Given the description of an element on the screen output the (x, y) to click on. 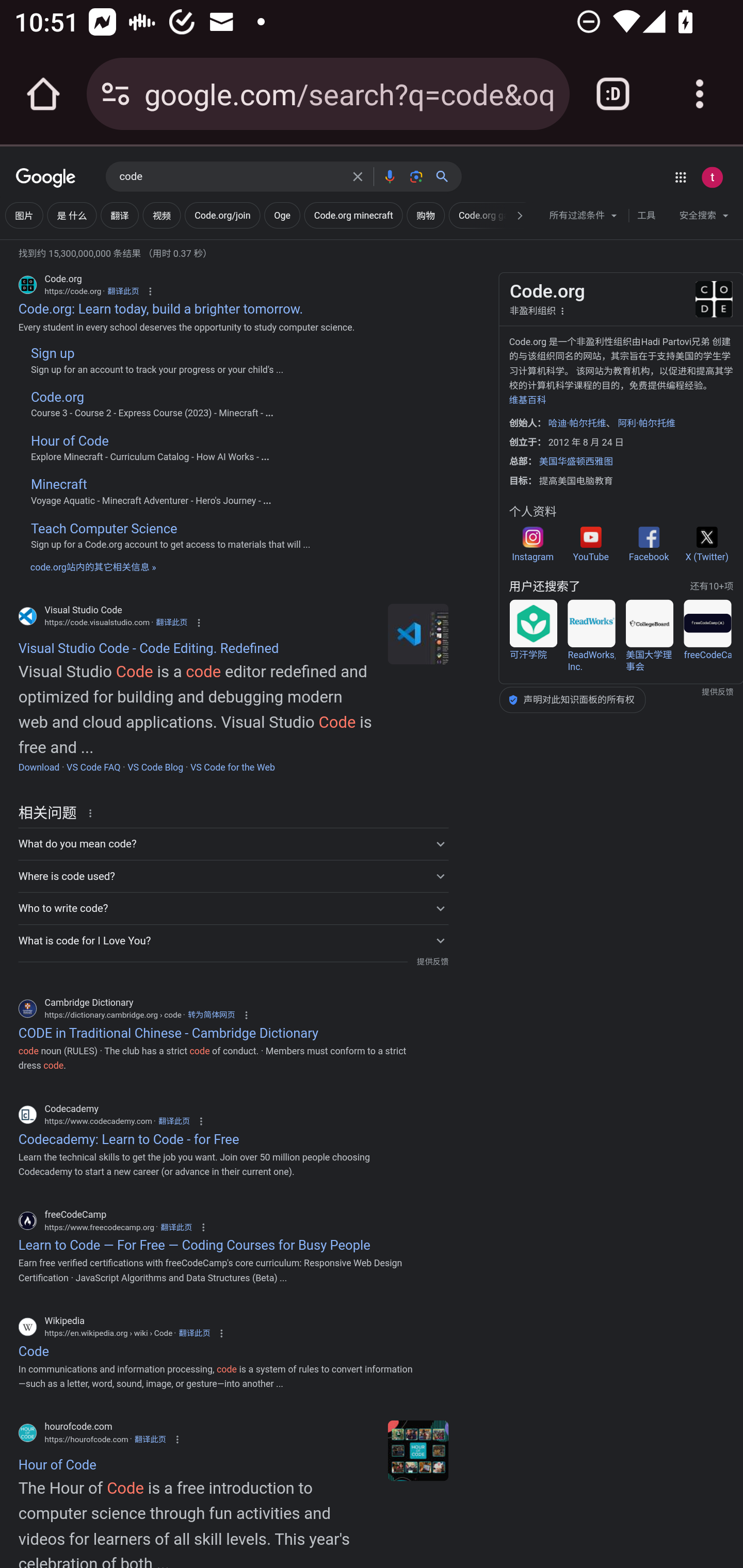
Open the home page (43, 93)
Connection is secure (115, 93)
Switch or close tabs (612, 93)
Customize and control Google Chrome (699, 93)
清除 (357, 176)
按语音搜索 (389, 176)
按图搜索 (415, 176)
搜索 (446, 176)
Google 应用 (680, 176)
Google 账号： test appium (testappium002@gmail.com) (712, 176)
Google (45, 178)
code (229, 177)
图片 (24, 215)
添加“是 什么” 是 什么 (71, 215)
添加“翻译” 翻译 (119, 215)
视频 (161, 215)
添加“Code.org/join” Code.org/join (222, 215)
添加“Oge” Oge (281, 215)
添加“Code.org minecraft” Code.org minecraft (353, 215)
购物 (425, 215)
添加“Code.org games” Code.org games (490, 215)
所有过滤条件 (583, 217)
工具 (646, 215)
安全搜索 (703, 217)
翻译此页 (122, 291)
Sign up (52, 353)
Code.org (56, 397)
Hour of Code (69, 441)
Minecraft (58, 484)
Teach Computer Science (102, 528)
code.org站内的其它相关信息 » (92, 566)
code.visualstudio (417, 633)
翻译此页 (171, 622)
Download (38, 767)
VS Code FAQ (92, 767)
VS Code Blog (155, 767)
VS Code for the Web (232, 767)
关于这条结果的详细信息 (93, 812)
What do you mean code? (232, 843)
Where is code used? (232, 876)
Who to write code? (232, 908)
What is code for I Love You? (232, 939)
提供反馈 (432, 961)
转为简体网页 (211, 1014)
翻译此页 (173, 1120)
翻译此页 (175, 1227)
翻译此页 (194, 1332)
hourofcode (417, 1450)
翻译此页 (149, 1439)
